Given the description of an element on the screen output the (x, y) to click on. 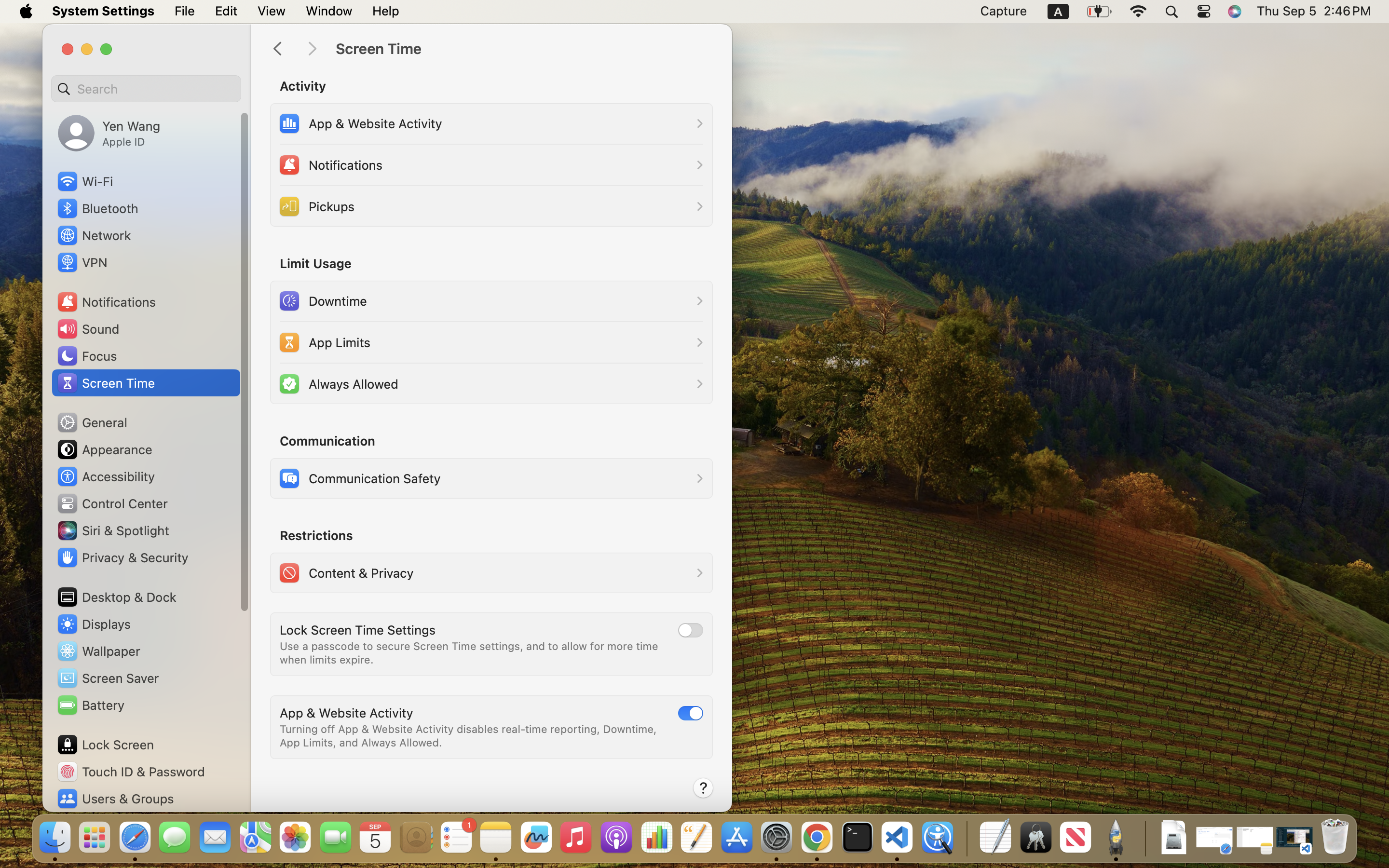
VPN Element type: AXStaticText (81, 261)
Wallpaper Element type: AXStaticText (97, 650)
0.4285714328289032 Element type: AXDockItem (965, 837)
Wi‑Fi Element type: AXStaticText (83, 180)
Desktop & Dock Element type: AXStaticText (115, 596)
